Given the description of an element on the screen output the (x, y) to click on. 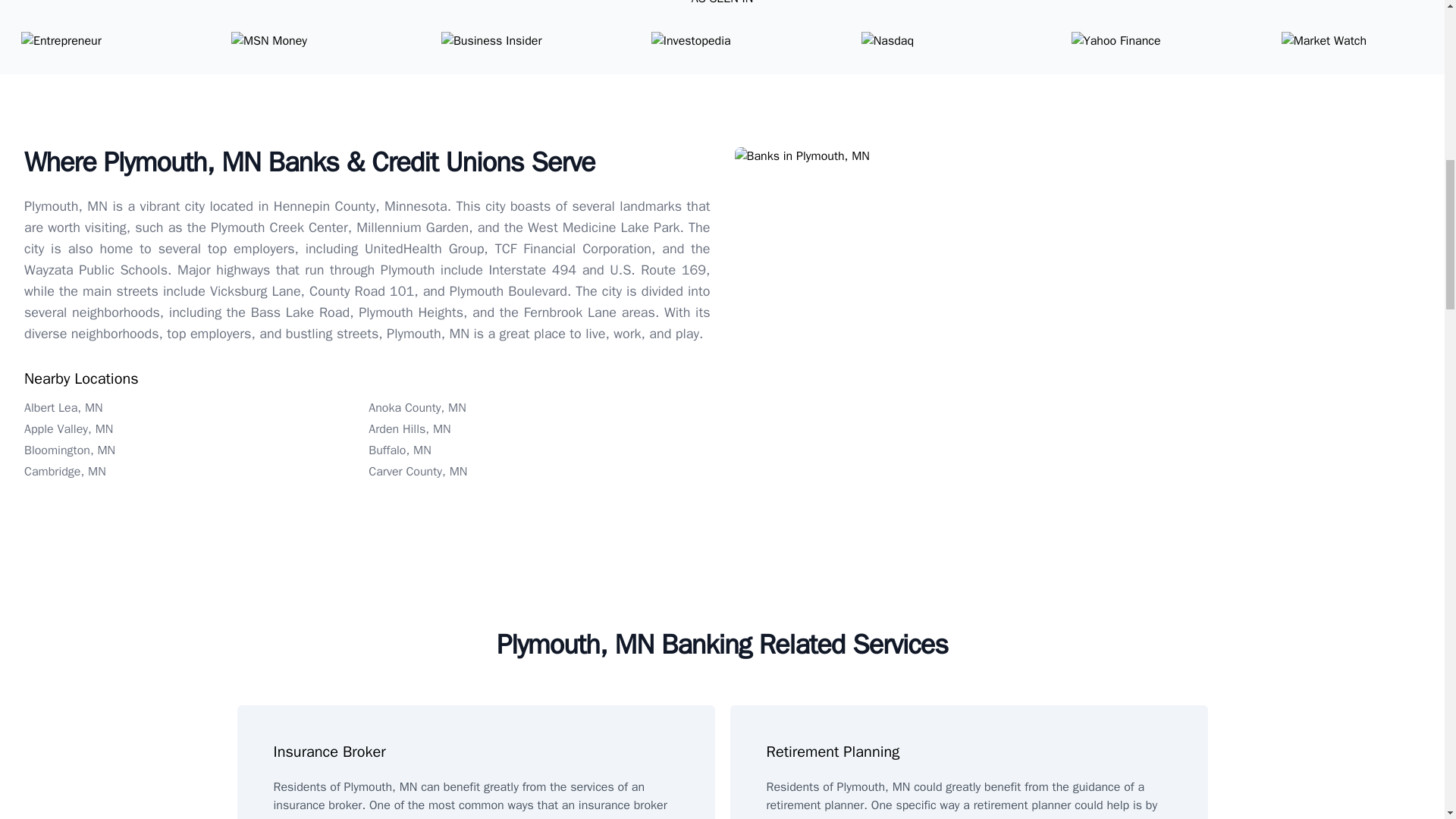
Banks in Plymouth, MN (1077, 156)
